Given the description of an element on the screen output the (x, y) to click on. 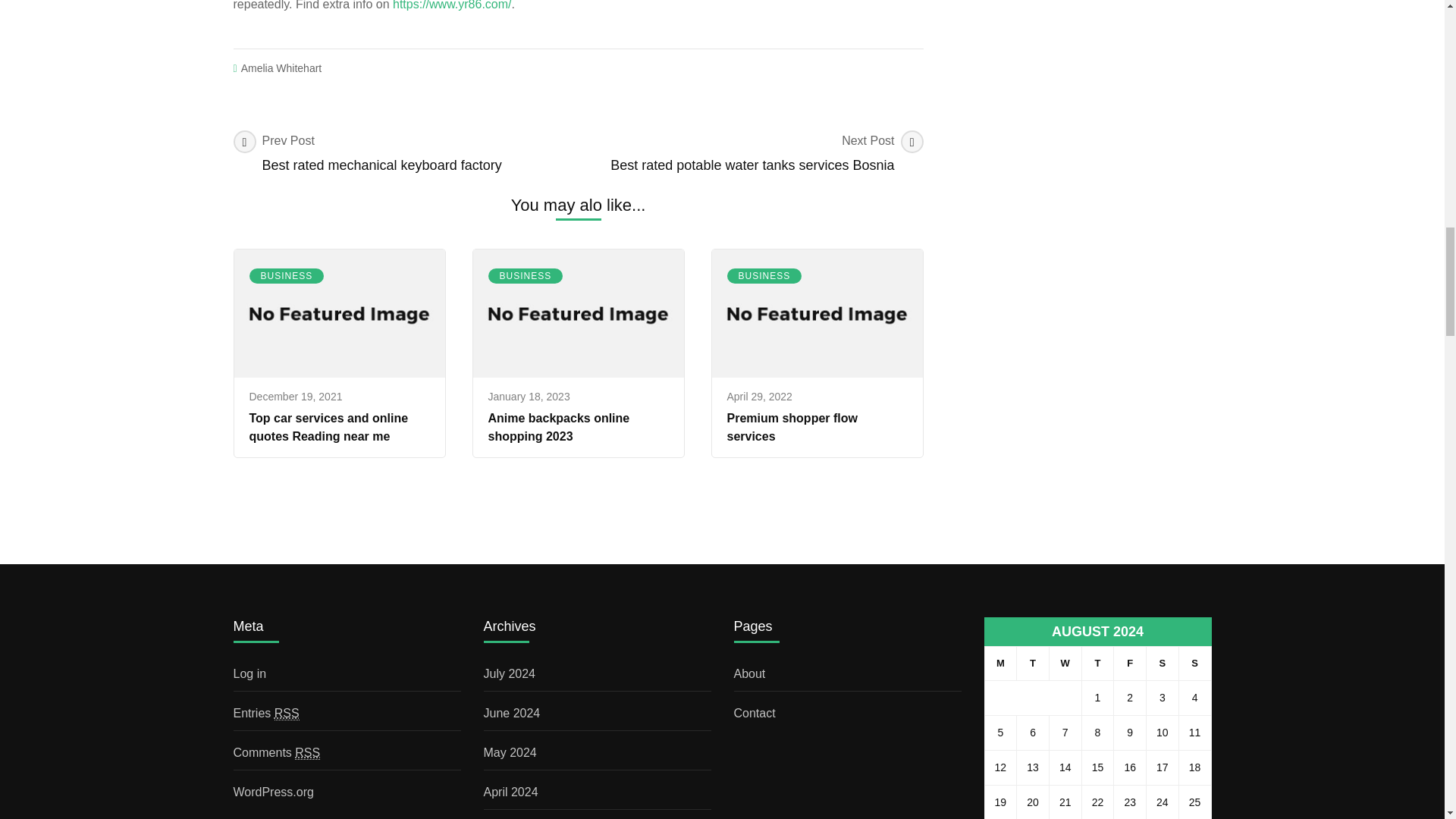
BUSINESS (285, 275)
January 18, 2023 (528, 396)
Wednesday (1064, 663)
Really Simple Syndication (405, 153)
BUSINESS (287, 713)
Friday (764, 275)
Monday (1130, 663)
Saturday (1000, 663)
BUSINESS (750, 153)
Sunday (1163, 663)
Really Simple Syndication (525, 275)
December 19, 2021 (1194, 663)
